Given the description of an element on the screen output the (x, y) to click on. 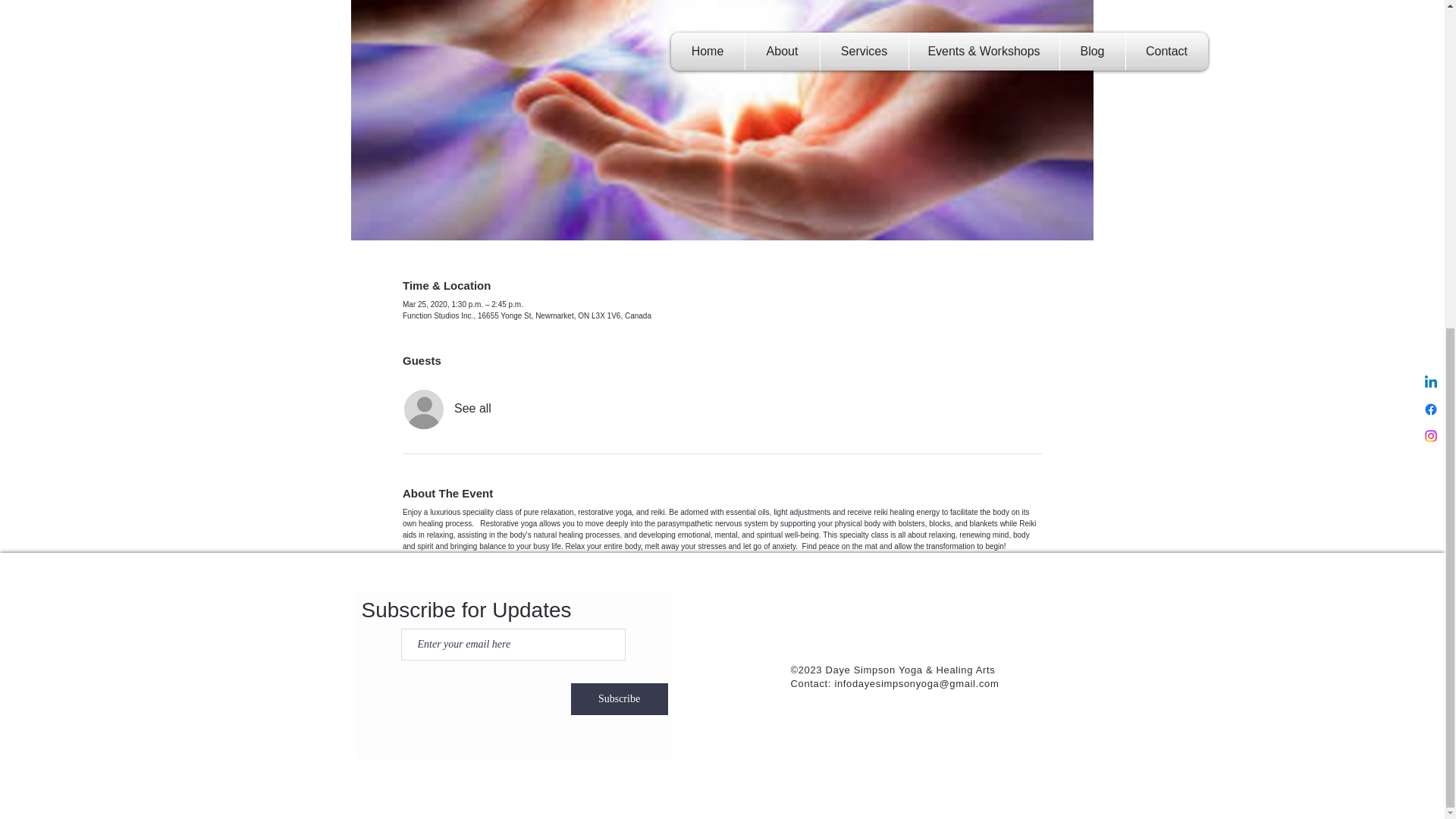
Subscribe (618, 698)
See all (473, 408)
